Given the description of an element on the screen output the (x, y) to click on. 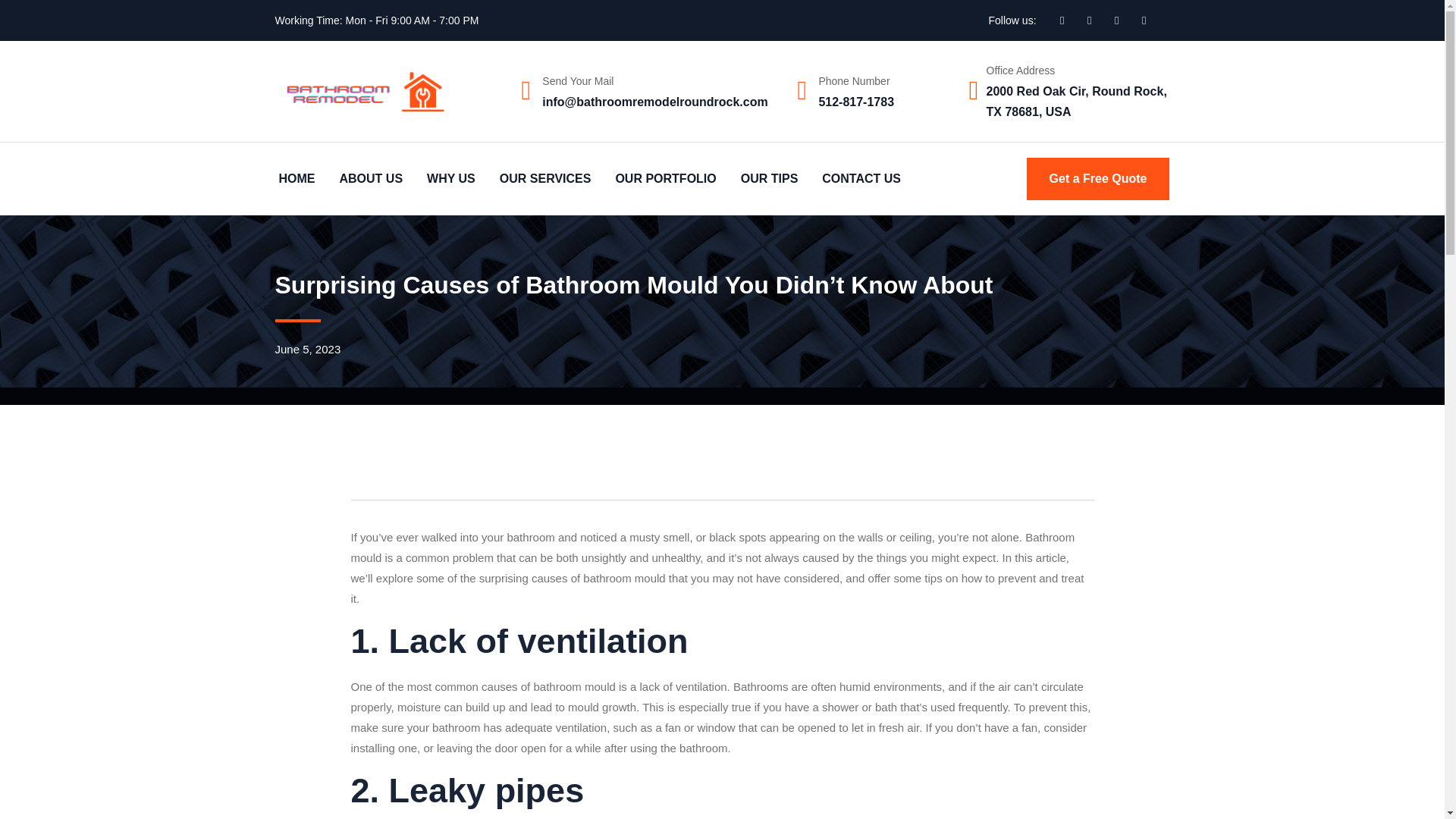
Get a Free Quote (1098, 178)
WHY US (450, 178)
CONTACT US (861, 178)
OUR PORTFOLIO (665, 178)
HOME (296, 178)
ABOUT US (370, 178)
OUR SERVICES (544, 178)
OUR TIPS (769, 178)
